Given the description of an element on the screen output the (x, y) to click on. 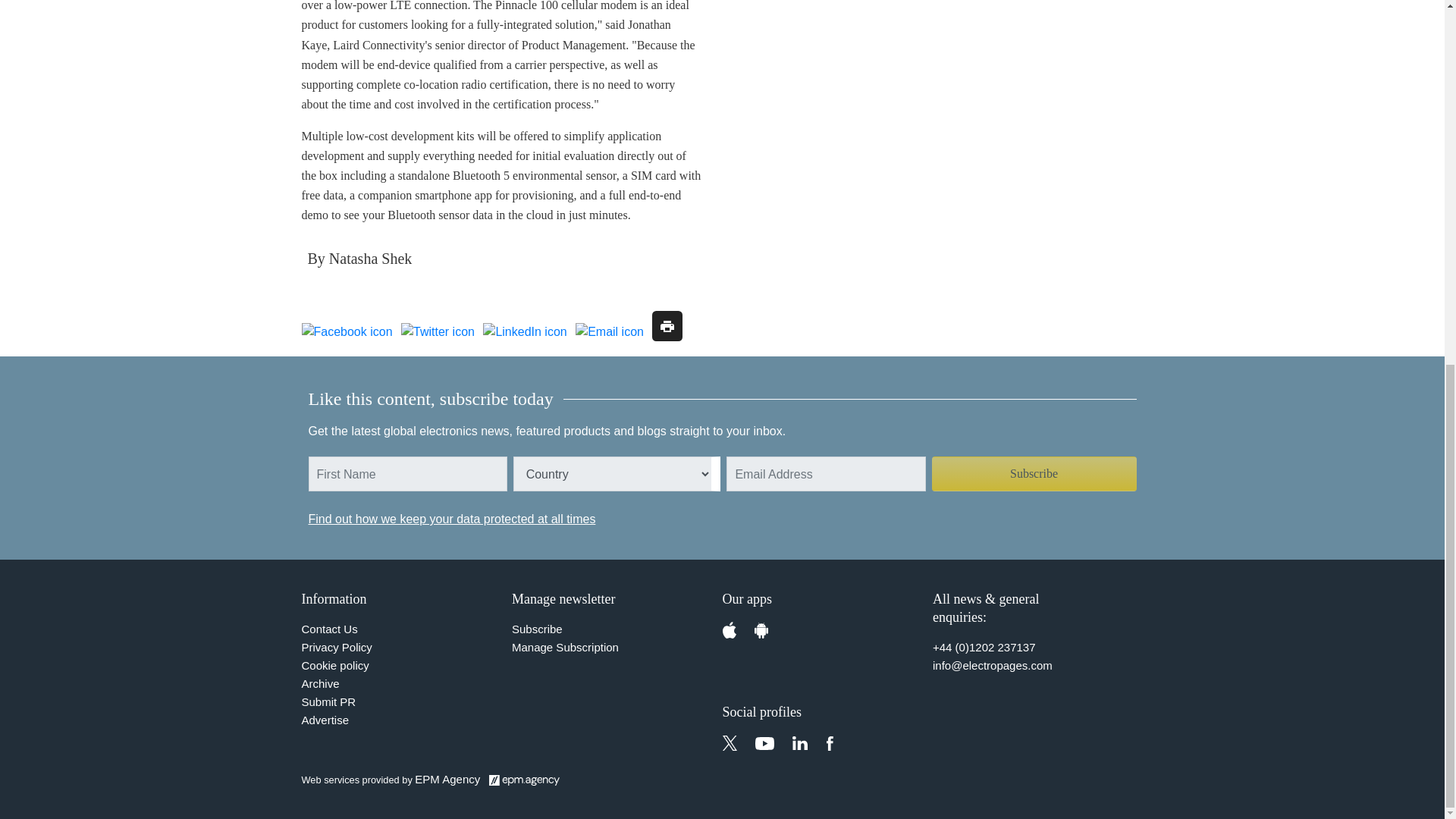
Share on LinkedIn (524, 331)
Share on Facebook (347, 331)
Share on Twitter (437, 331)
Send with Email (609, 331)
